Given the description of an element on the screen output the (x, y) to click on. 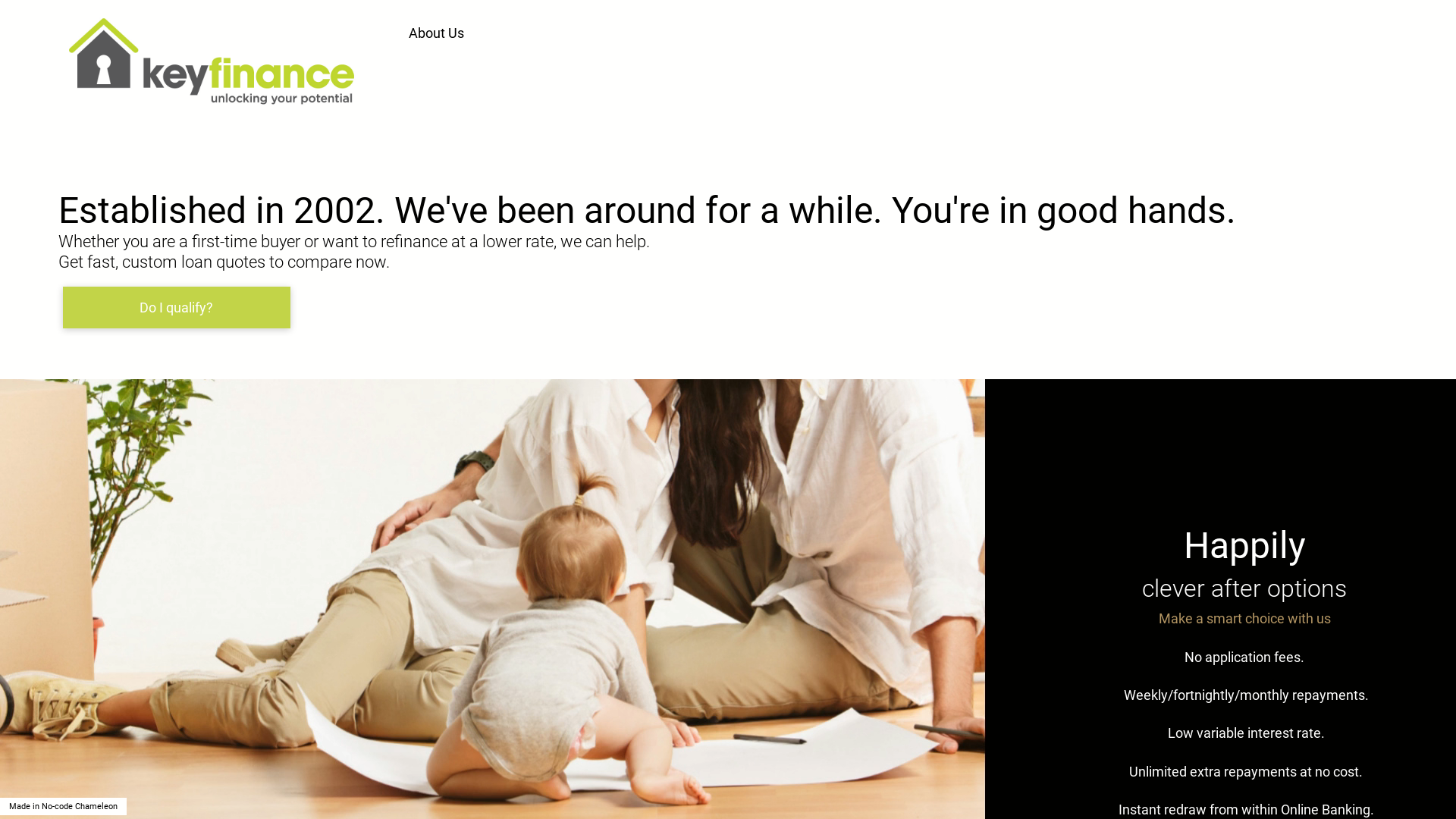
Made in No-code Chameleon Element type: text (63, 806)
About Us Element type: text (438, 32)
Do I qualify? Element type: text (174, 307)
